Given the description of an element on the screen output the (x, y) to click on. 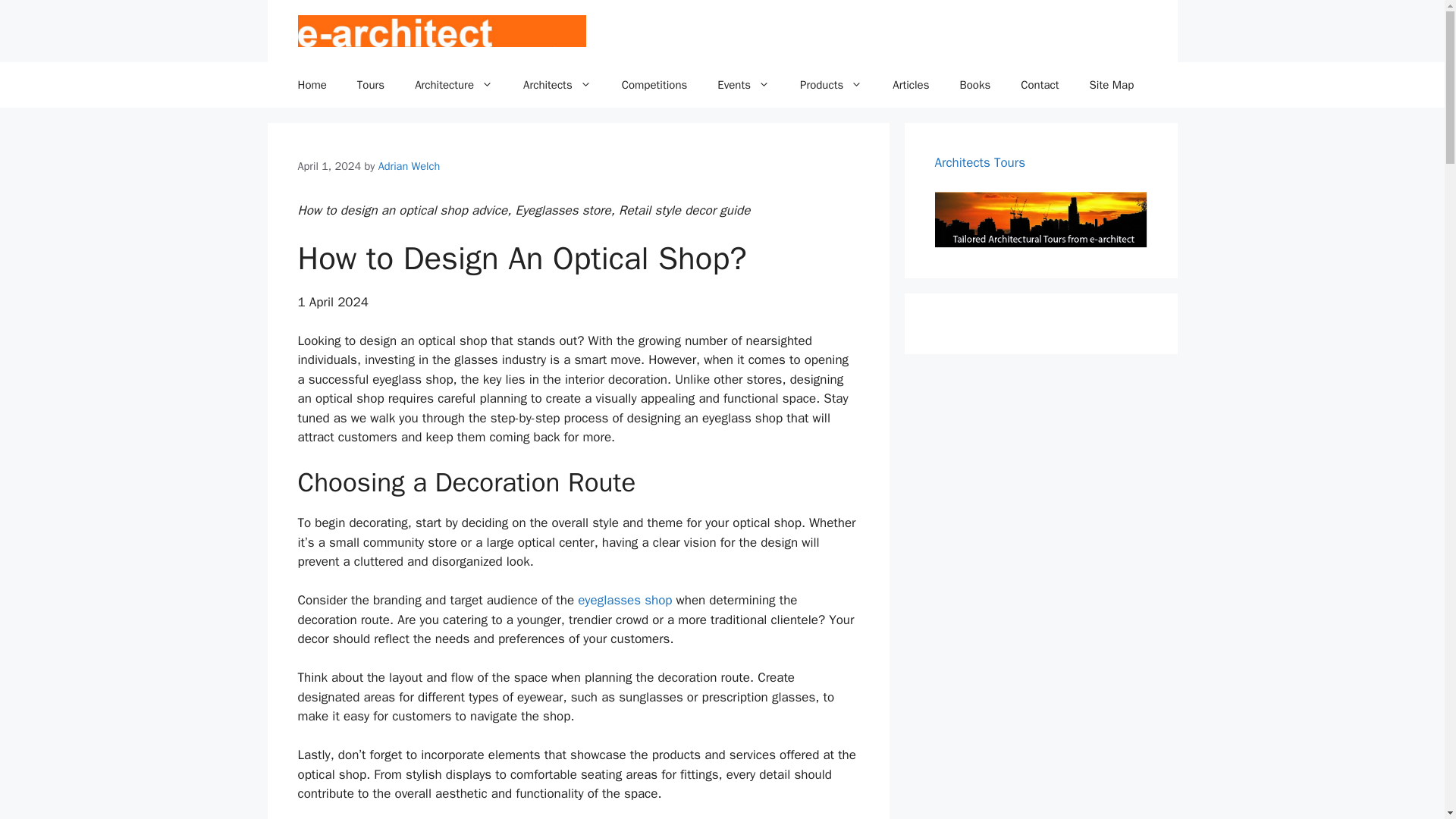
Products (830, 84)
Architects (557, 84)
Architecture (453, 84)
Contact (1040, 84)
Home (311, 84)
Books (974, 84)
Home (311, 84)
Architects Tours (979, 162)
Competitions (655, 84)
Events (742, 84)
